Given the description of an element on the screen output the (x, y) to click on. 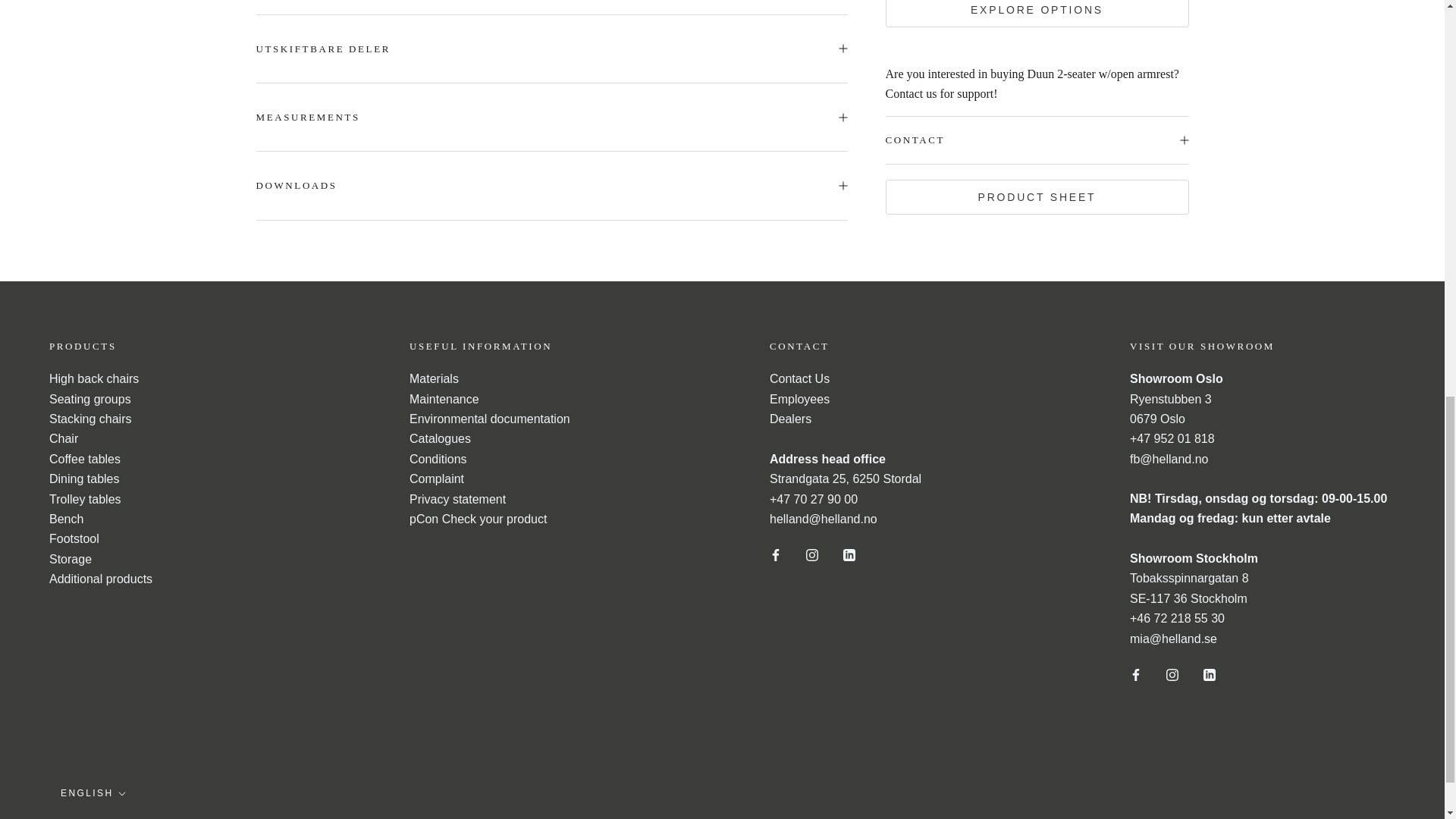
Catalogues (439, 438)
Environmental documentation (489, 418)
Coffee table (84, 459)
Footstool (74, 538)
Chair (63, 438)
High back chair (93, 378)
Trolley table (84, 499)
Materials (433, 378)
Stacking chairs (90, 418)
Conditions (438, 459)
Dining table (84, 478)
Seating groups (90, 399)
Storage (70, 558)
Bench (65, 518)
Additional products (100, 578)
